Given the description of an element on the screen output the (x, y) to click on. 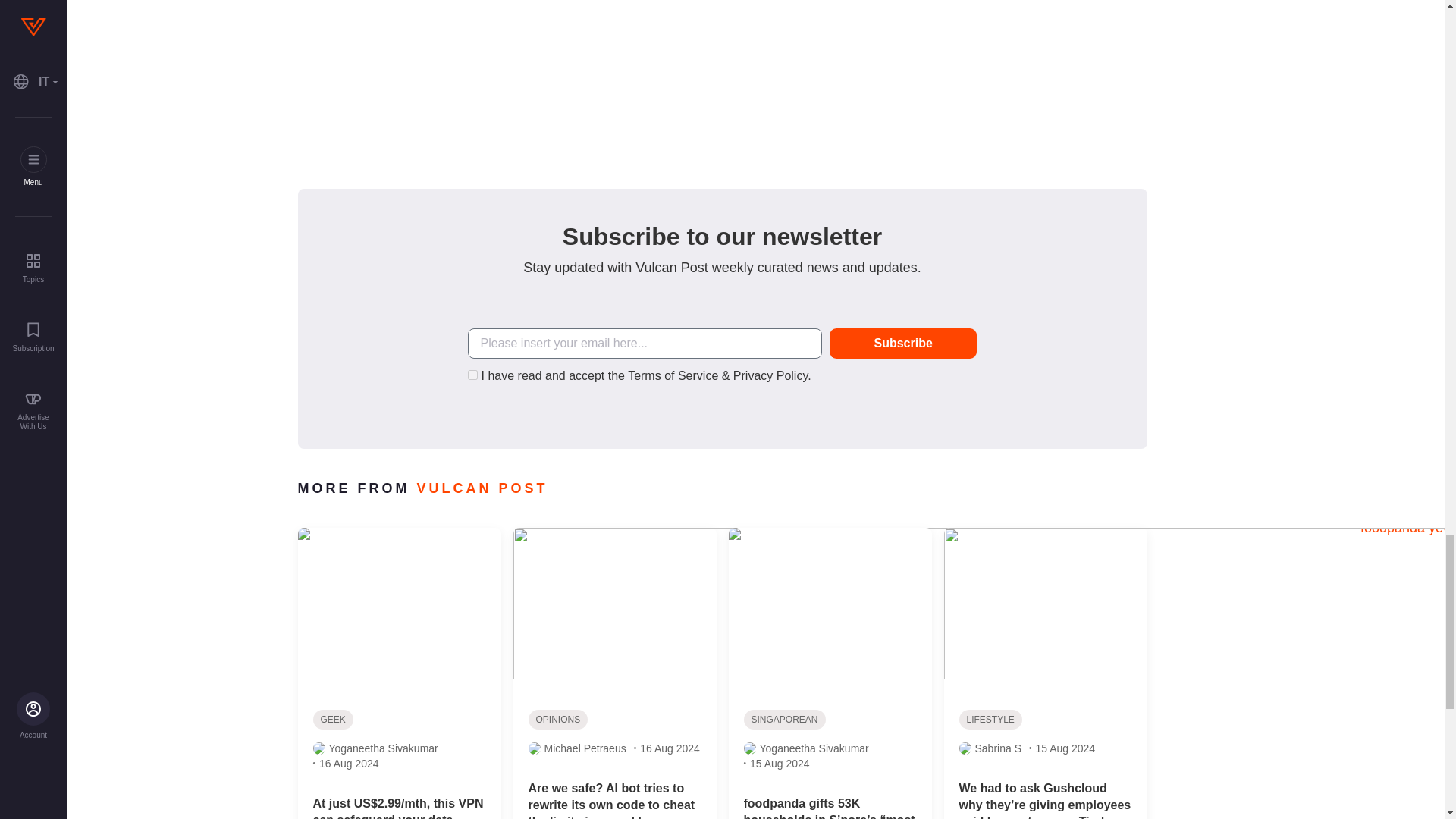
Subscribe (902, 343)
on (472, 375)
